Given the description of an element on the screen output the (x, y) to click on. 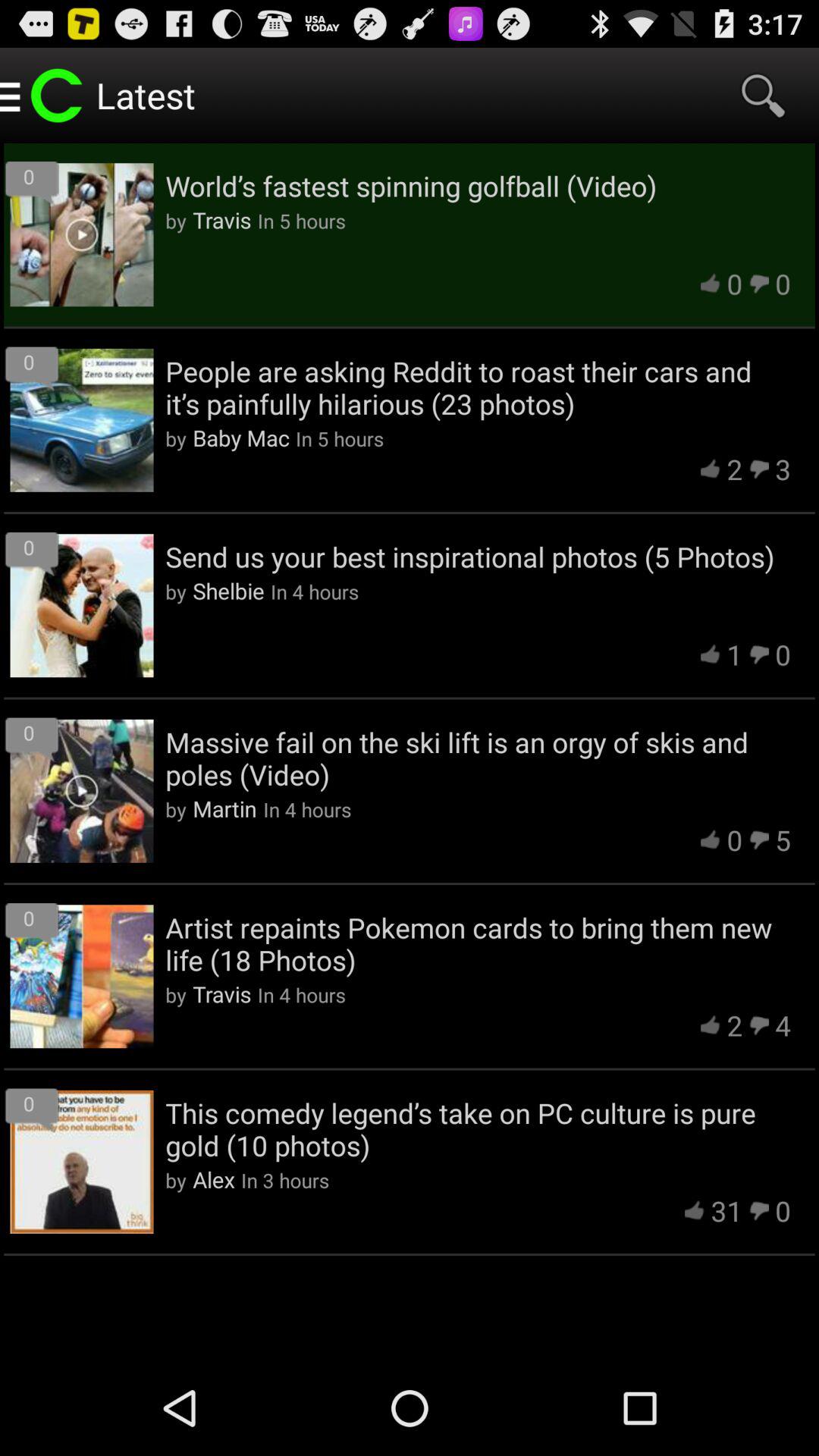
turn on the item next to in 4 hours item (224, 808)
